Given the description of an element on the screen output the (x, y) to click on. 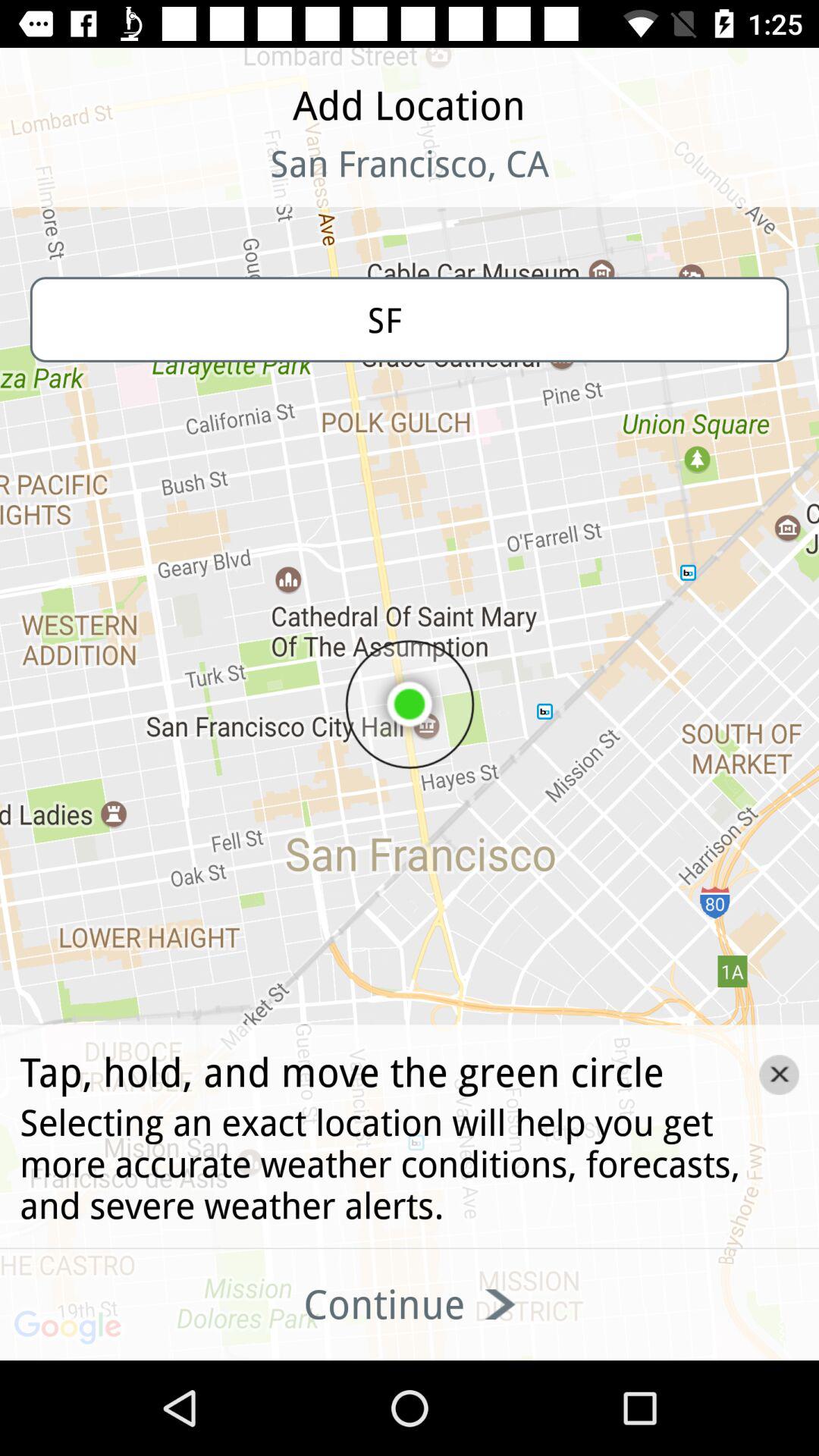
launch item next to san francisco, ca (99, 182)
